Given the description of an element on the screen output the (x, y) to click on. 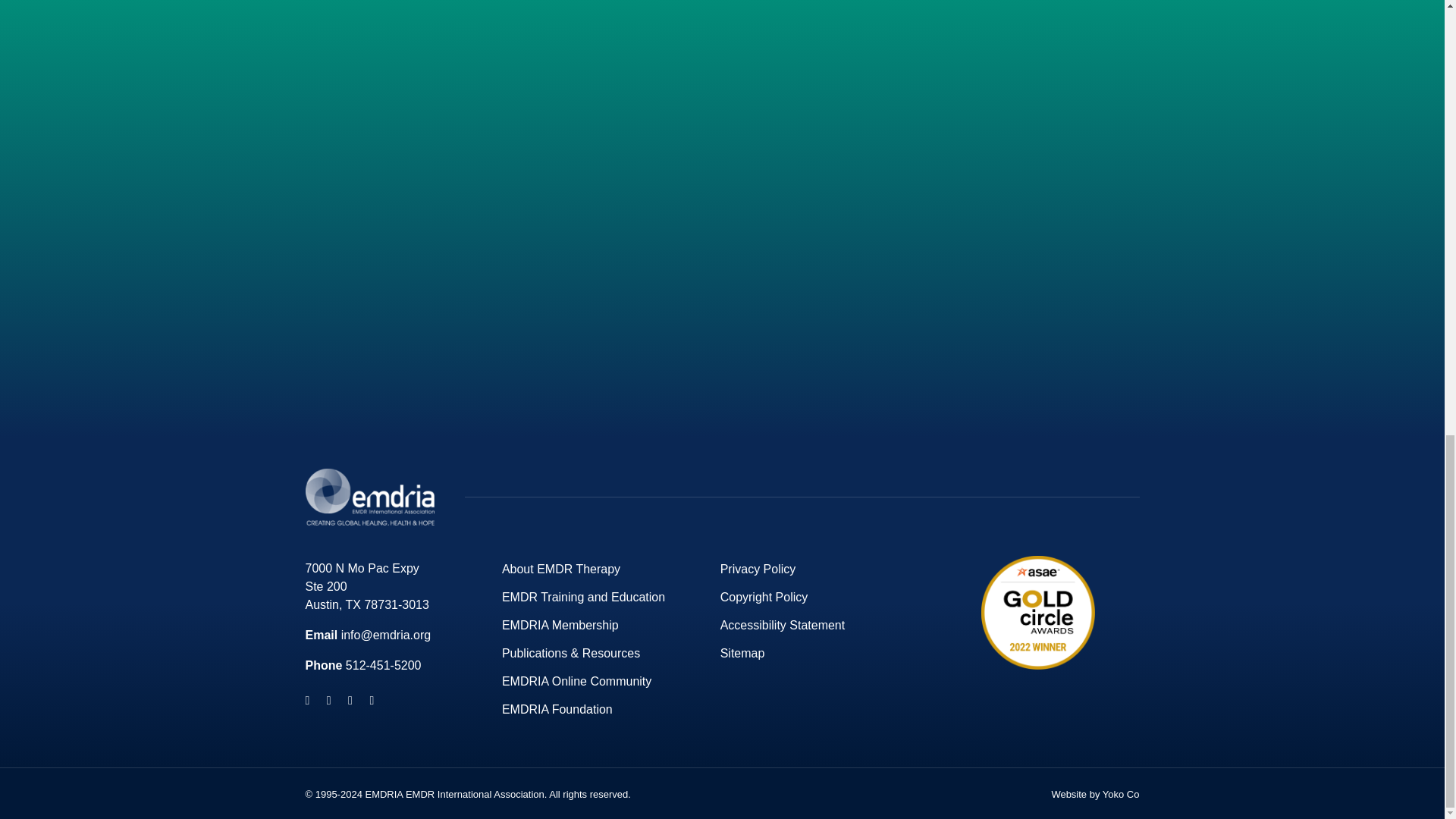
gold-circle-2022 (1037, 612)
logo-emdria-grayscale-min (368, 496)
